Given the description of an element on the screen output the (x, y) to click on. 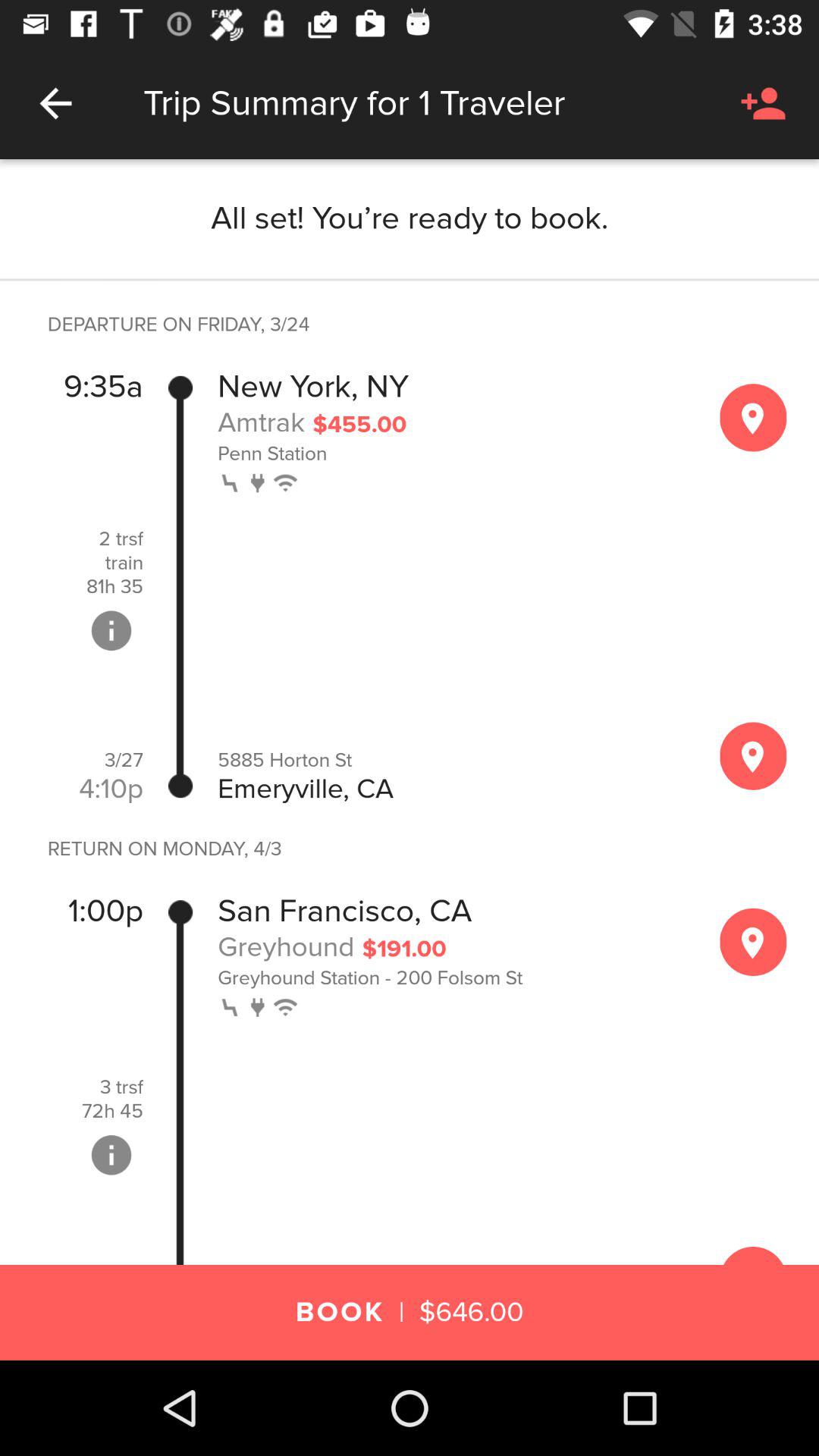
jump to the 5885 horton st (452, 760)
